Given the description of an element on the screen output the (x, y) to click on. 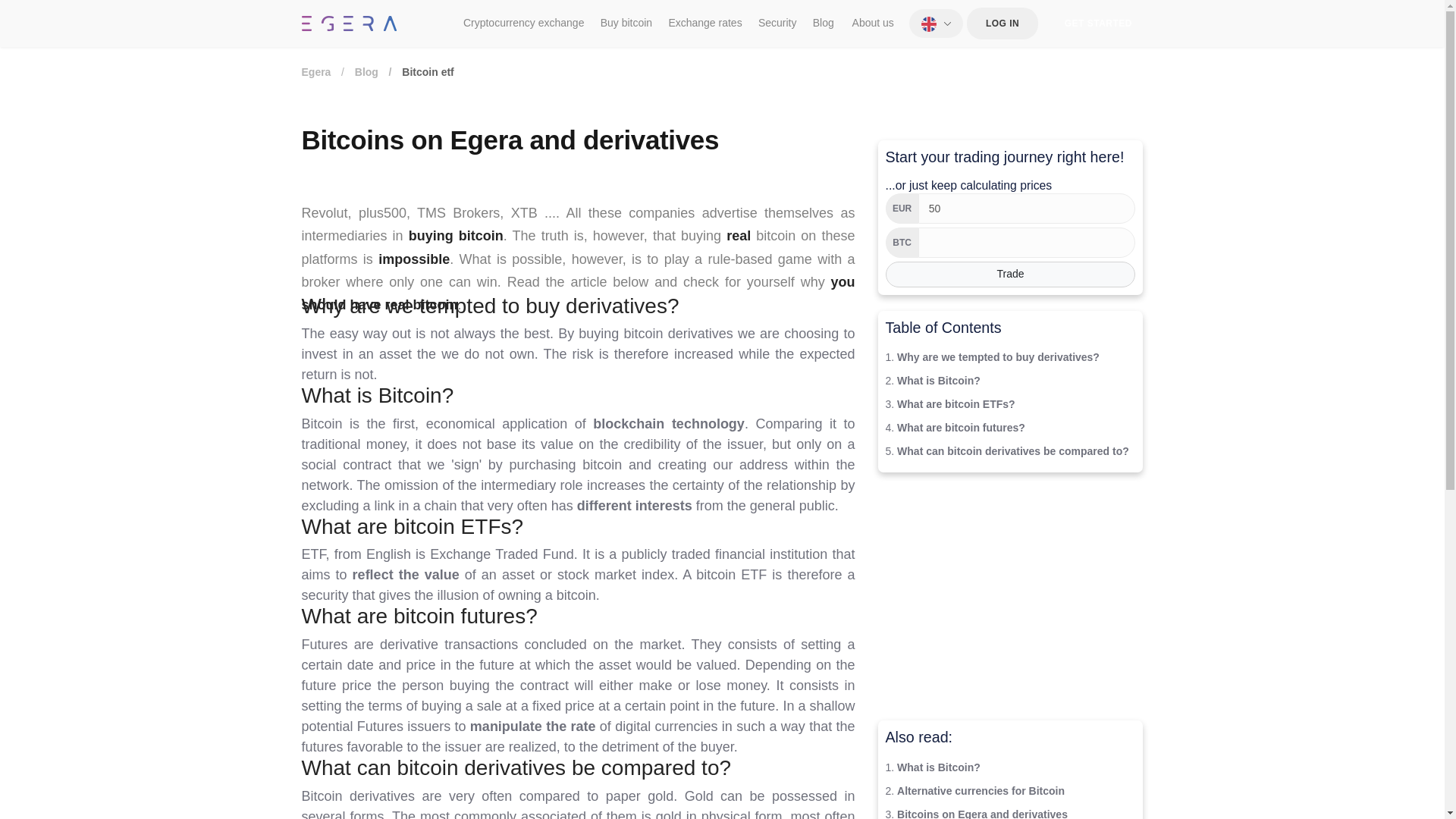
GET STARTED (1098, 23)
Blog (366, 71)
What can bitcoin derivatives be compared to? (1012, 451)
Exchange rates (704, 23)
Buy bitcoin (625, 23)
Alternative currencies for Bitcoin (980, 790)
Why are we tempted to buy derivatives? (997, 357)
Bitcoins on Egera and derivatives (981, 813)
What is Bitcoin? (937, 380)
Cryptocurrency exchange (524, 23)
LOG IN (1002, 23)
Security (777, 23)
About us (872, 23)
Egera (316, 71)
